Given the description of an element on the screen output the (x, y) to click on. 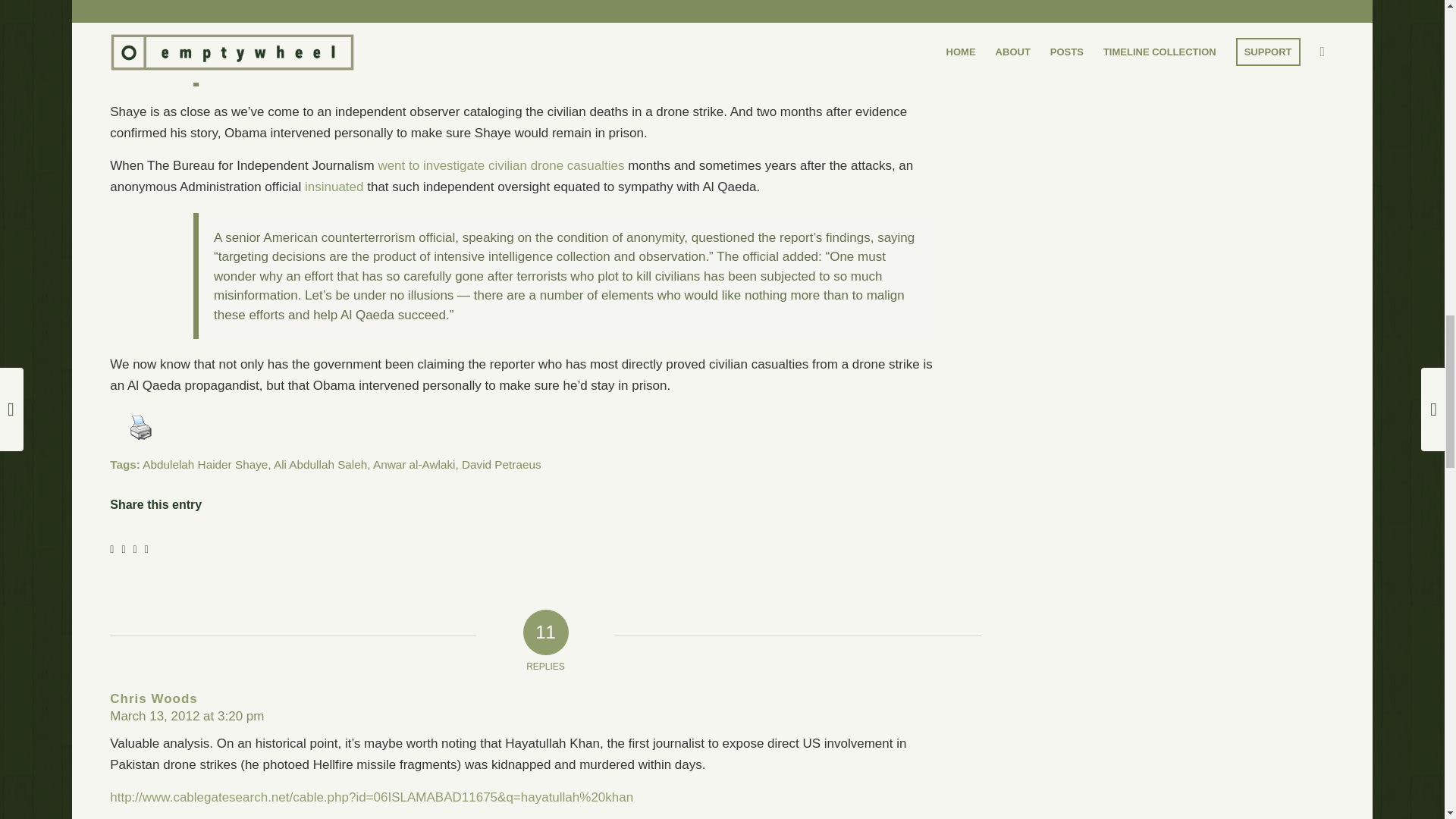
insinuated (334, 186)
went to investigate civilian drone casualties (500, 165)
Abdulelah Haider Shaye (204, 463)
Print Content (141, 427)
